Given the description of an element on the screen output the (x, y) to click on. 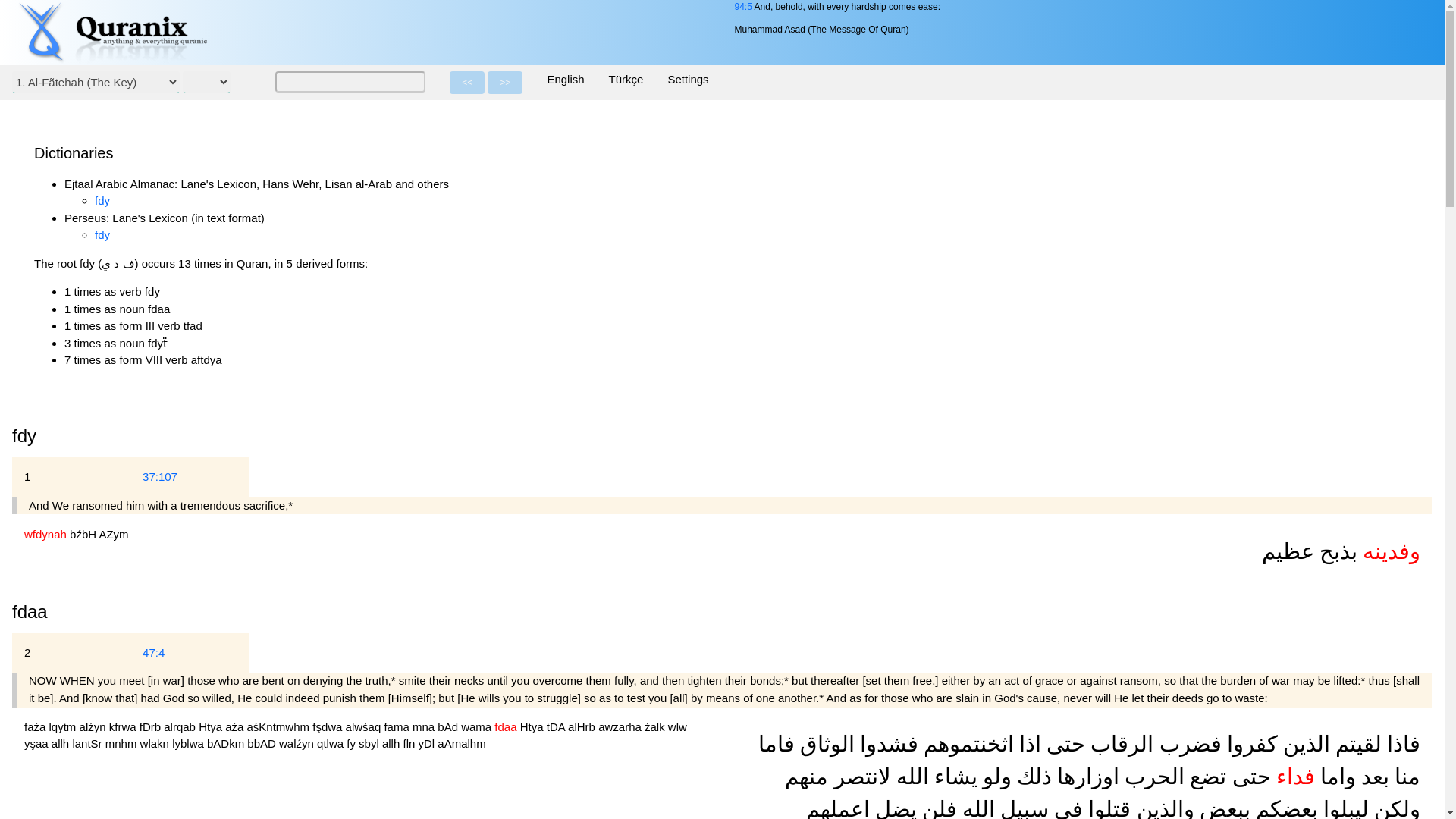
English (564, 80)
94:5 (742, 6)
Settings (687, 80)
English (564, 80)
